Given the description of an element on the screen output the (x, y) to click on. 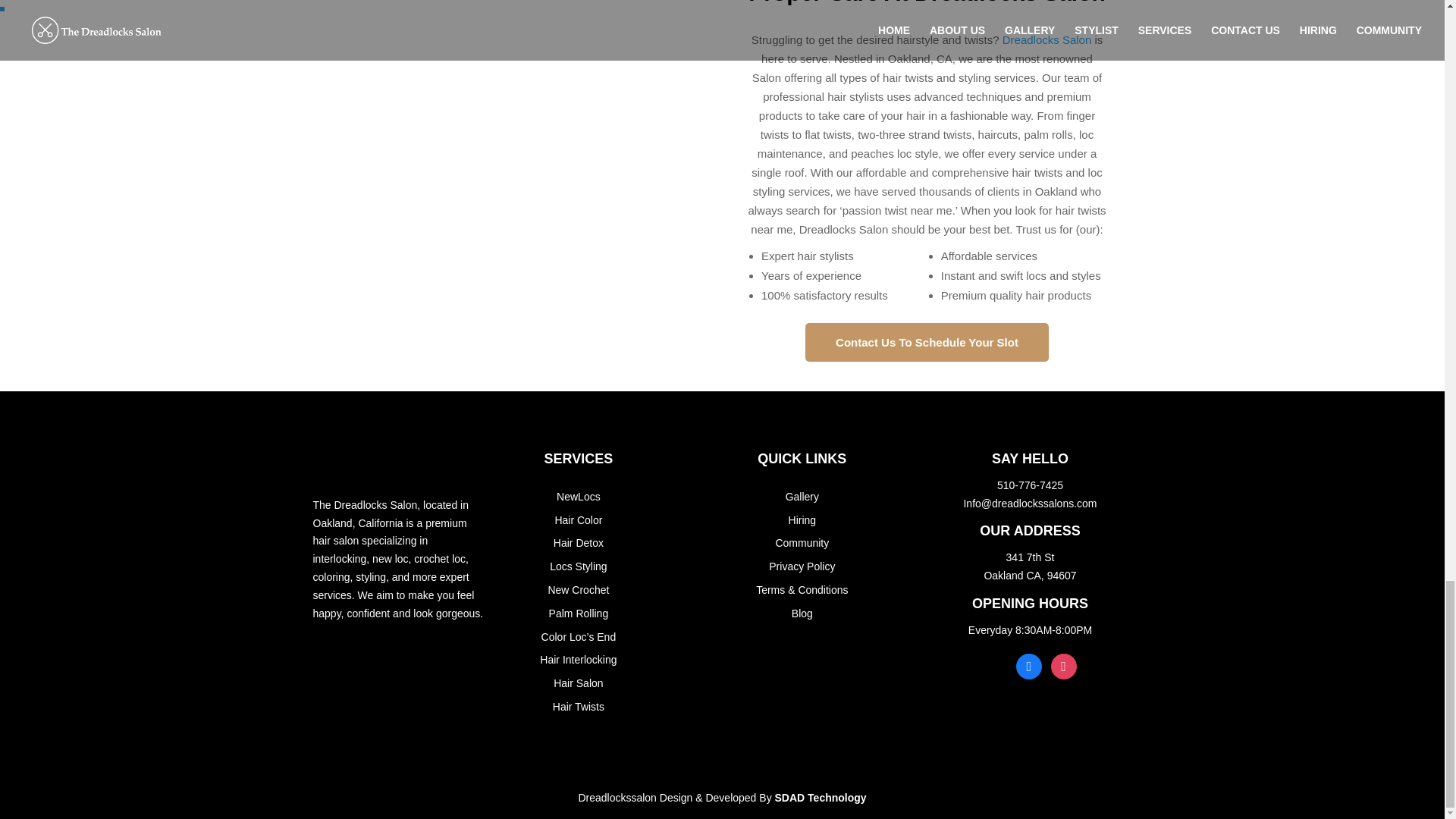
Blog (802, 613)
Hair Detox (578, 542)
Community (801, 542)
Instagram (1064, 664)
SDAD Technology (820, 797)
Gallery (802, 496)
Hair Twists (578, 706)
Hair Salon (577, 683)
New Crochet (577, 589)
Hiring (802, 520)
Hair Interlocking (577, 659)
NewLocs (577, 496)
Hair Color (578, 520)
Palm Rolling (578, 613)
Contact Us To Schedule Your Slot (926, 341)
